Given the description of an element on the screen output the (x, y) to click on. 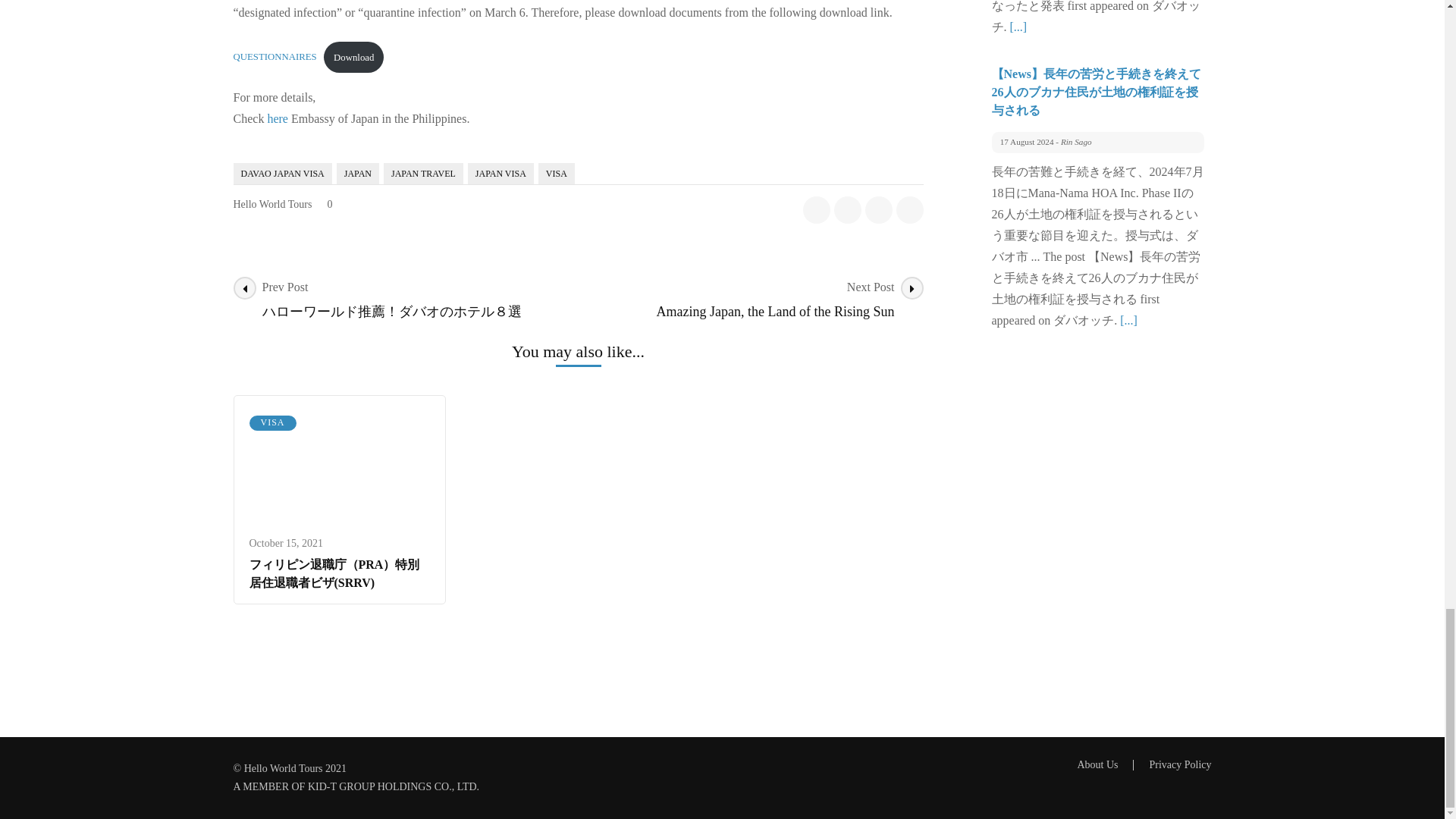
JAPAN (357, 173)
Download (353, 56)
here (277, 118)
QUESTIONNAIRES (274, 57)
DAVAO JAPAN VISA (281, 173)
